Given the description of an element on the screen output the (x, y) to click on. 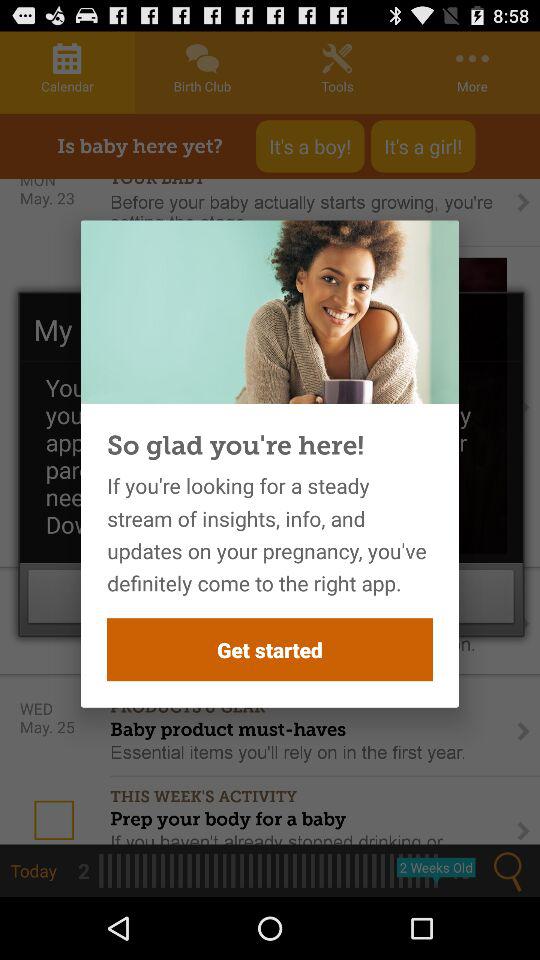
tap the item at the bottom (269, 649)
